Given the description of an element on the screen output the (x, y) to click on. 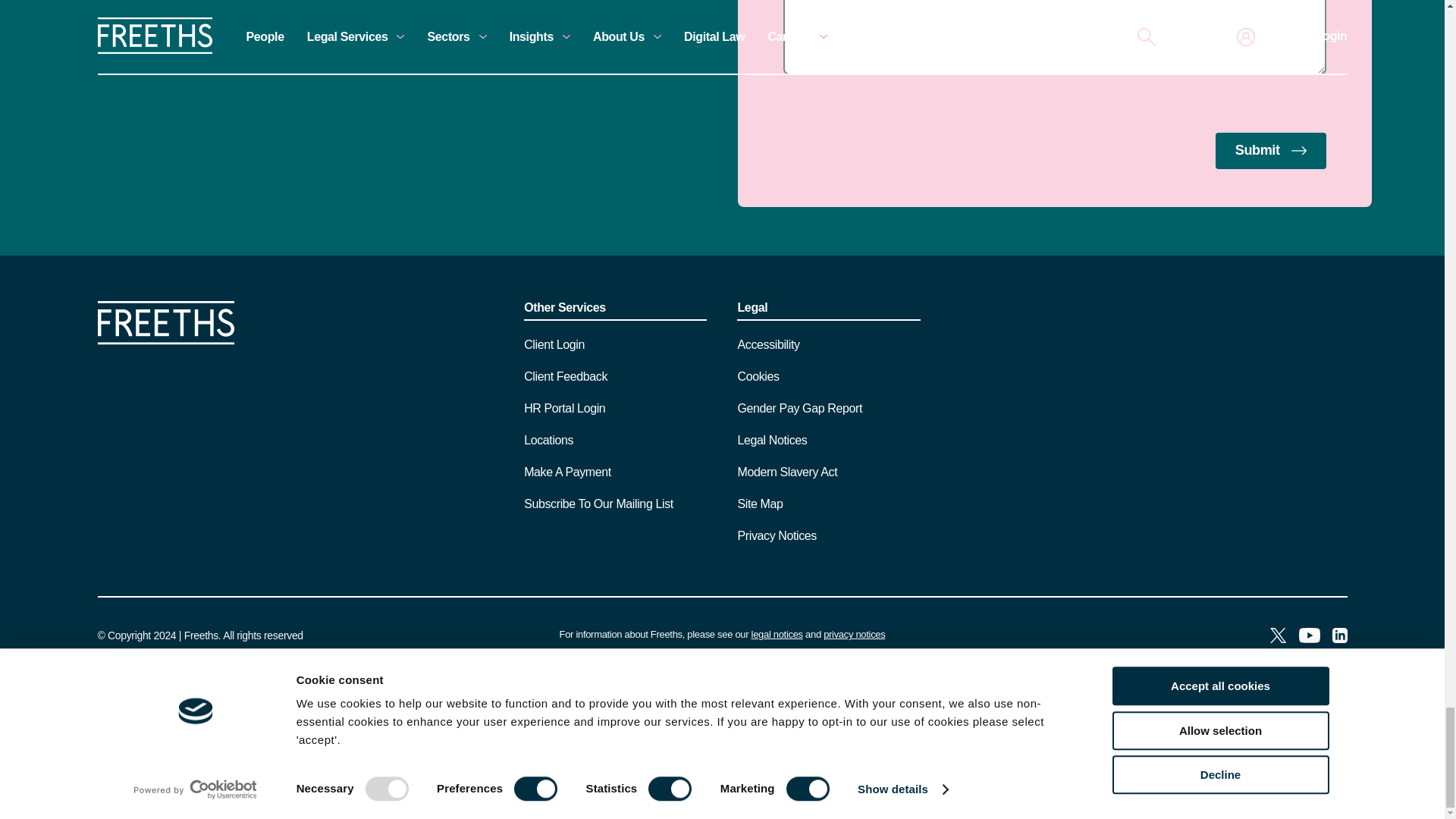
YouTube (1308, 636)
Legal Notices (777, 634)
Twitter (1277, 636)
Privacy Notices (854, 634)
Home (164, 340)
